Given the description of an element on the screen output the (x, y) to click on. 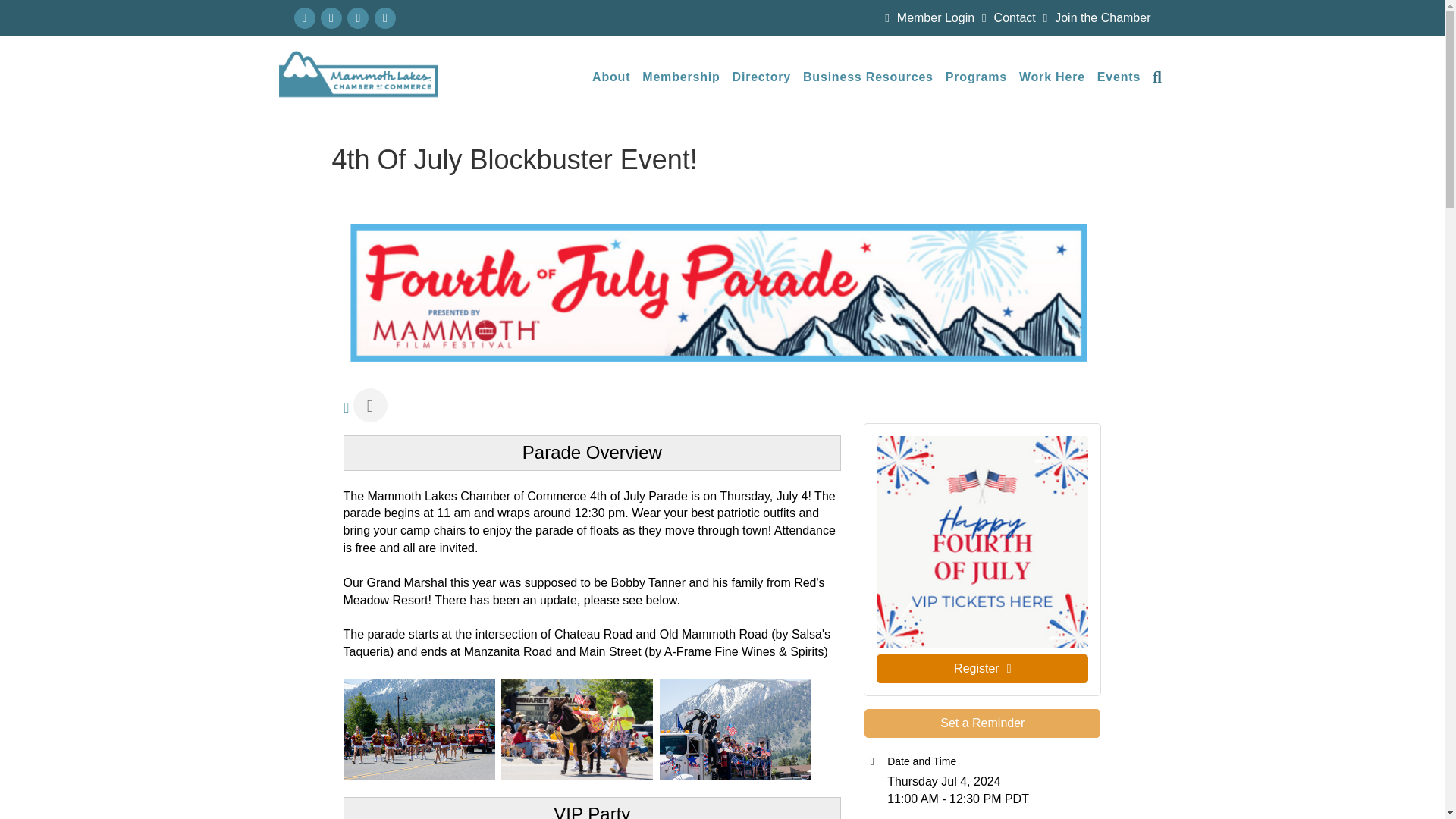
Contact (1004, 18)
Member Login (925, 18)
Join the Chamber (1093, 18)
